Given the description of an element on the screen output the (x, y) to click on. 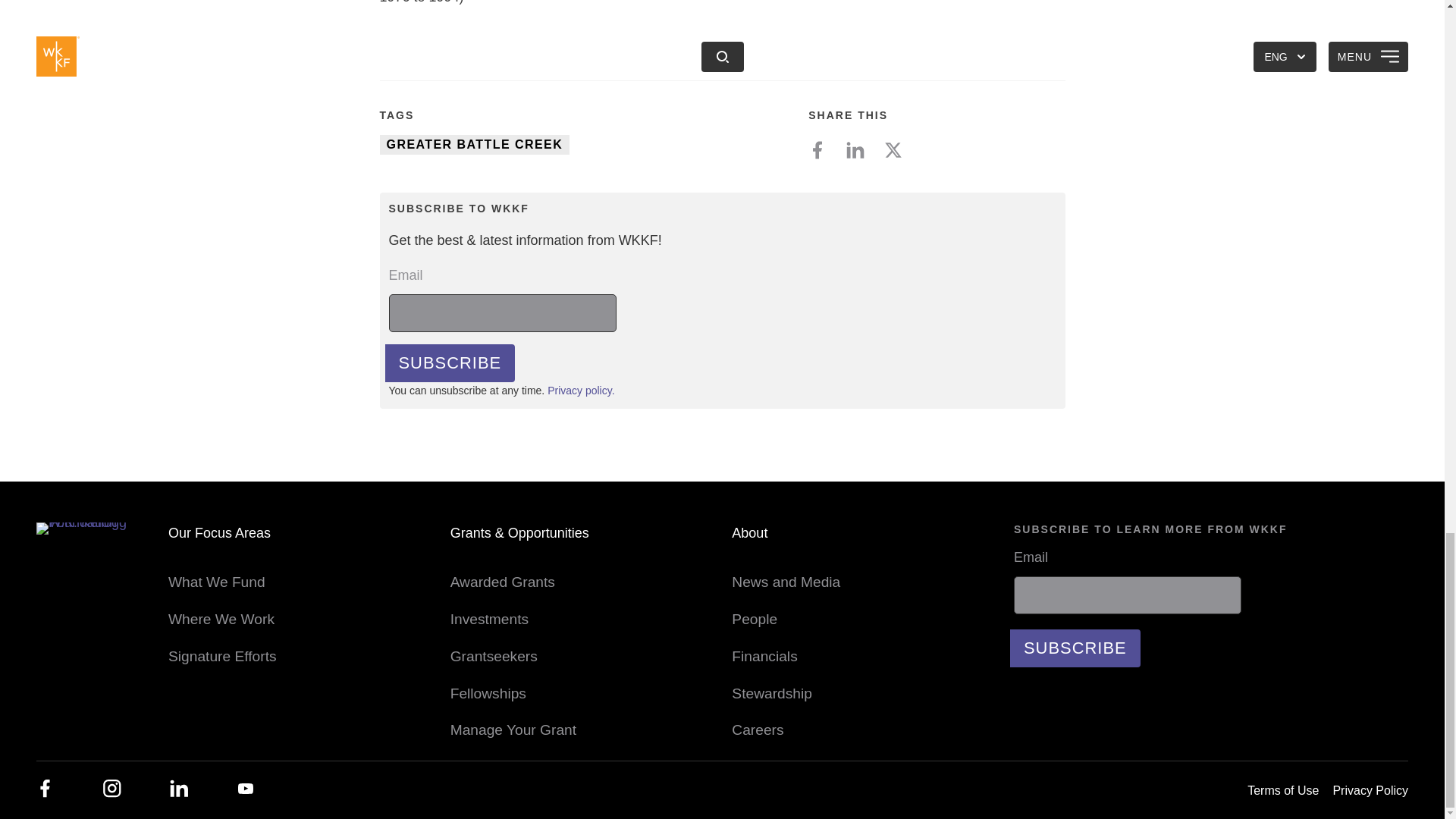
Privacy policy. (580, 390)
What We Fund (216, 582)
Subscribe (450, 362)
Subscribe (1075, 648)
Share on Facebook (823, 150)
Share on LinkedIn (860, 150)
Subscribe (450, 362)
GREATER BATTLE CREEK (473, 144)
